Given the description of an element on the screen output the (x, y) to click on. 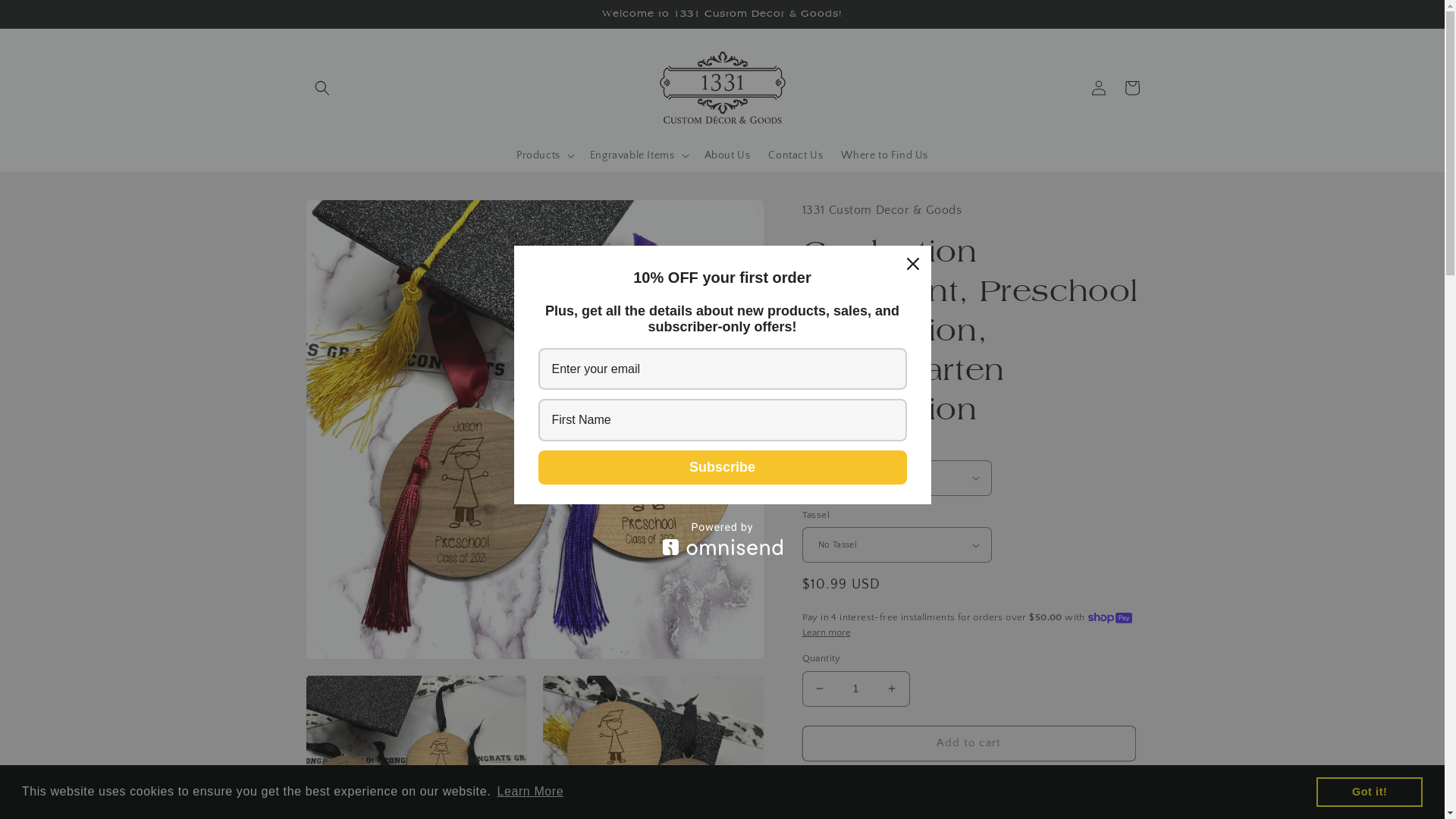
Skip to product information Element type: text (350, 216)
Log in Element type: text (1097, 87)
Learn More Element type: text (529, 791)
Got it! Element type: text (1369, 791)
Cart Element type: text (1131, 87)
Add to cart Element type: text (968, 743)
Contact Us Element type: text (795, 155)
Where to Find Us Element type: text (884, 155)
About Us Element type: text (726, 155)
